Given the description of an element on the screen output the (x, y) to click on. 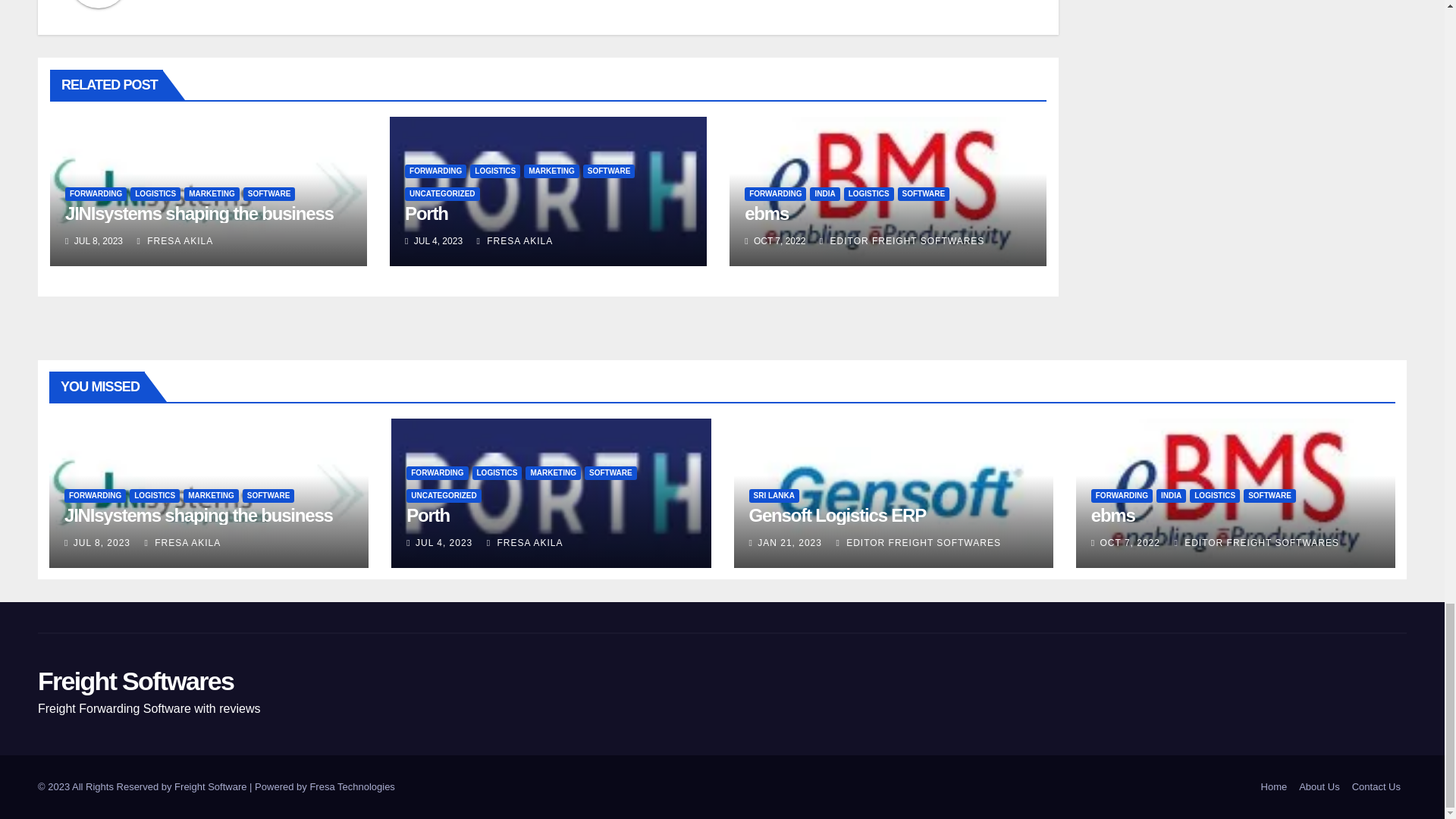
Permalink to: Porth (427, 515)
Permalink to: ebms (766, 213)
Permalink to: Gensoft Logistics ERP (837, 515)
Permalink to: ebms (1112, 515)
Home (1274, 786)
Permalink to: JINIsystems shaping the business (198, 515)
Permalink to: Porth (426, 213)
Permalink to: JINIsystems shaping the business (199, 213)
